Given the description of an element on the screen output the (x, y) to click on. 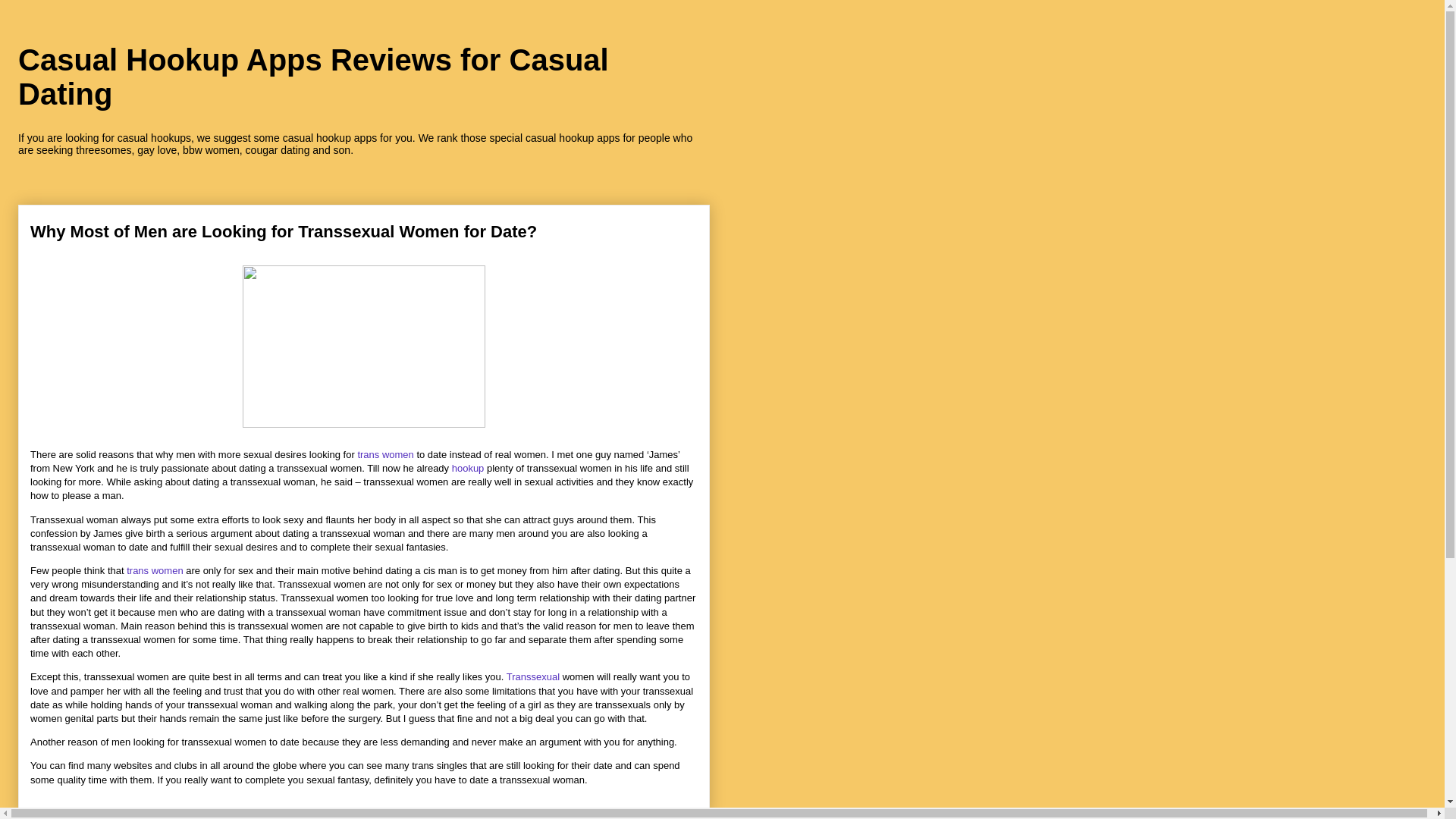
trans women (154, 570)
Casual Hookup Apps Reviews for Casual Dating (312, 76)
hookup (467, 468)
Transsexual (534, 676)
trans women (384, 454)
